Given the description of an element on the screen output the (x, y) to click on. 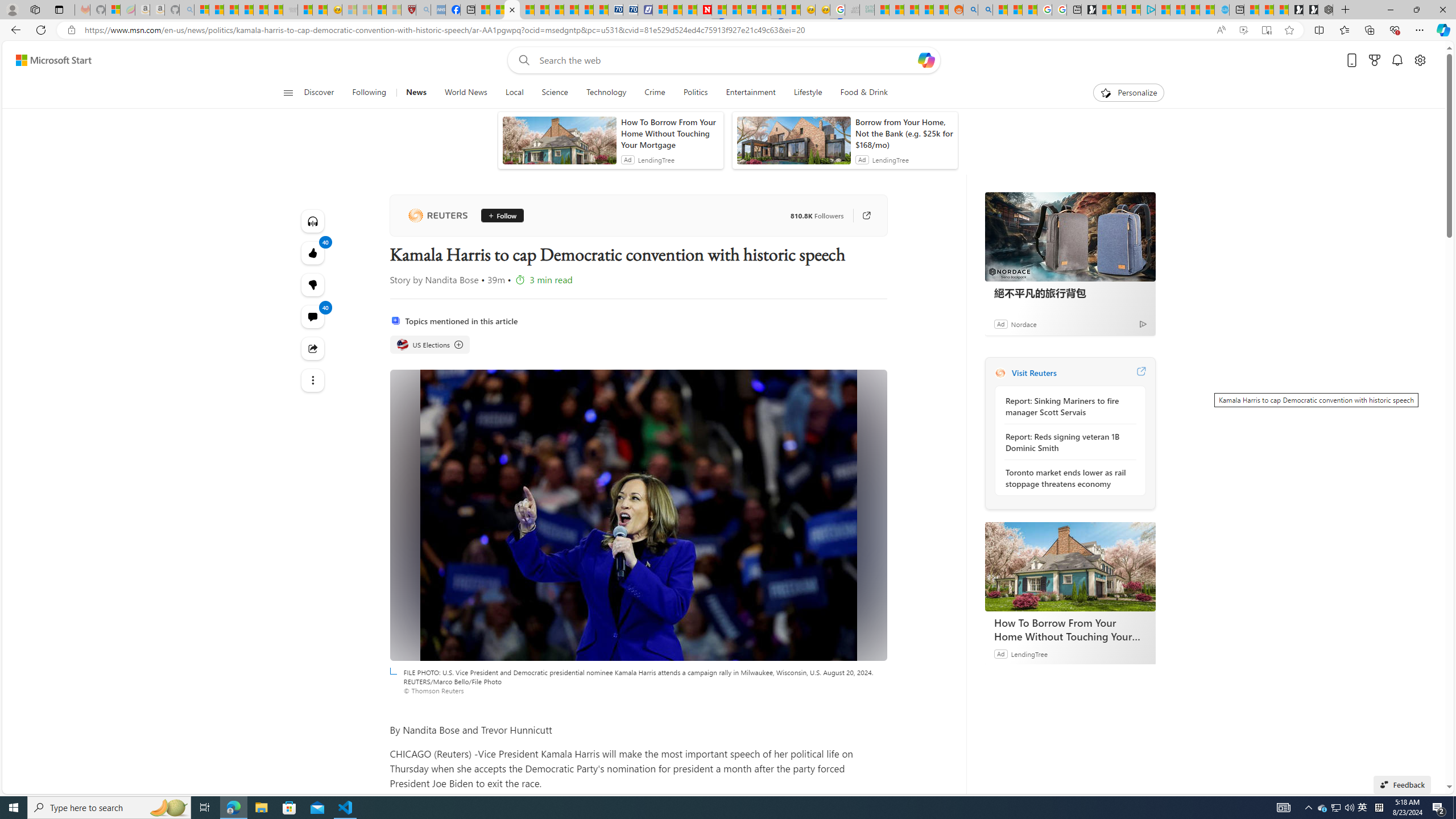
Enter your search term (726, 59)
Local (514, 92)
Report: Reds signing veteran 1B Dominic Smith (1066, 441)
Cheap Car Rentals - Save70.com (614, 9)
Entertainment (750, 92)
